Given the description of an element on the screen output the (x, y) to click on. 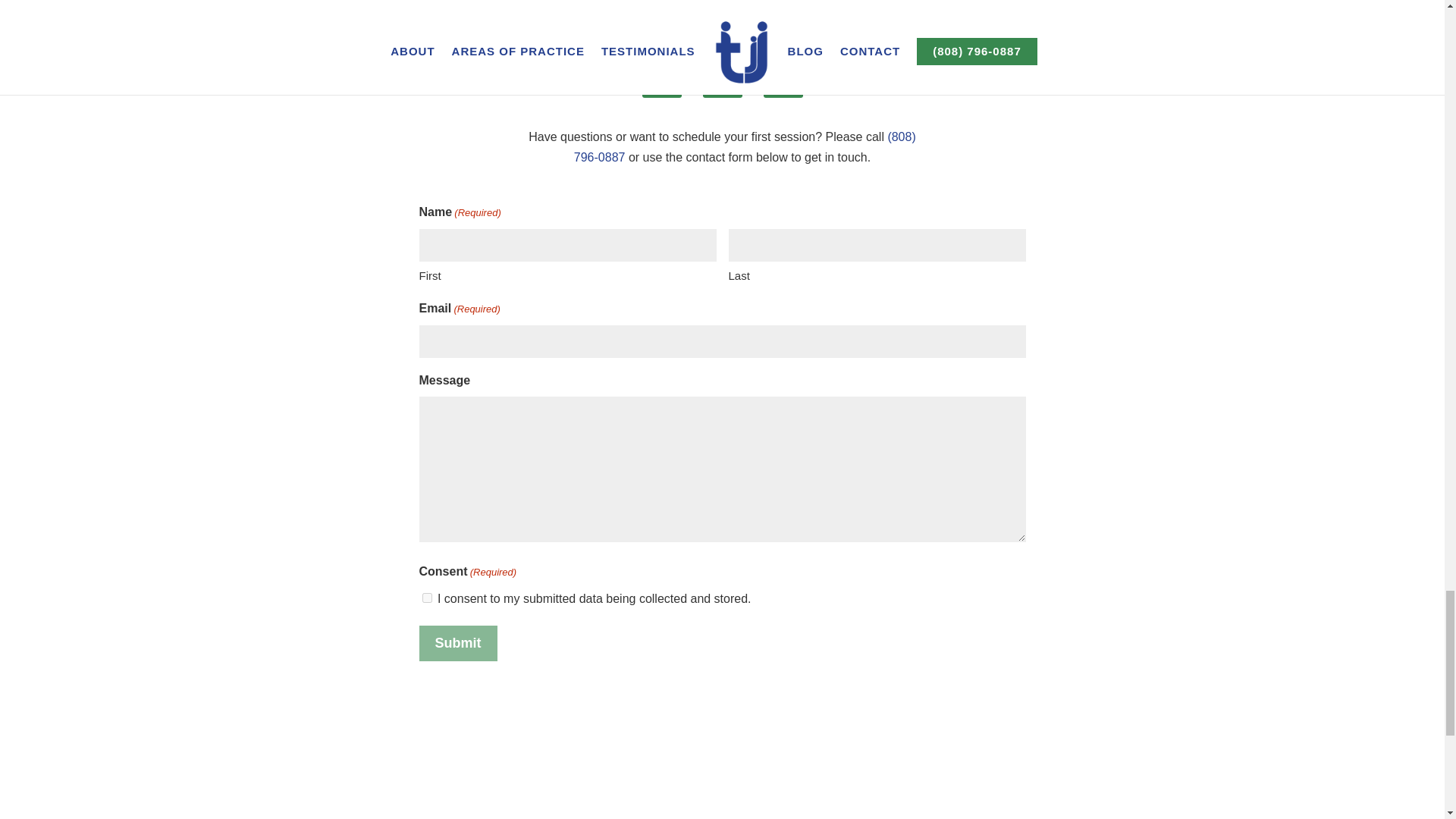
Follow on Facebook (661, 77)
1 (426, 597)
Follow on Instagram (721, 77)
Follow on LinkedIn (782, 77)
Submit (457, 642)
